Given the description of an element on the screen output the (x, y) to click on. 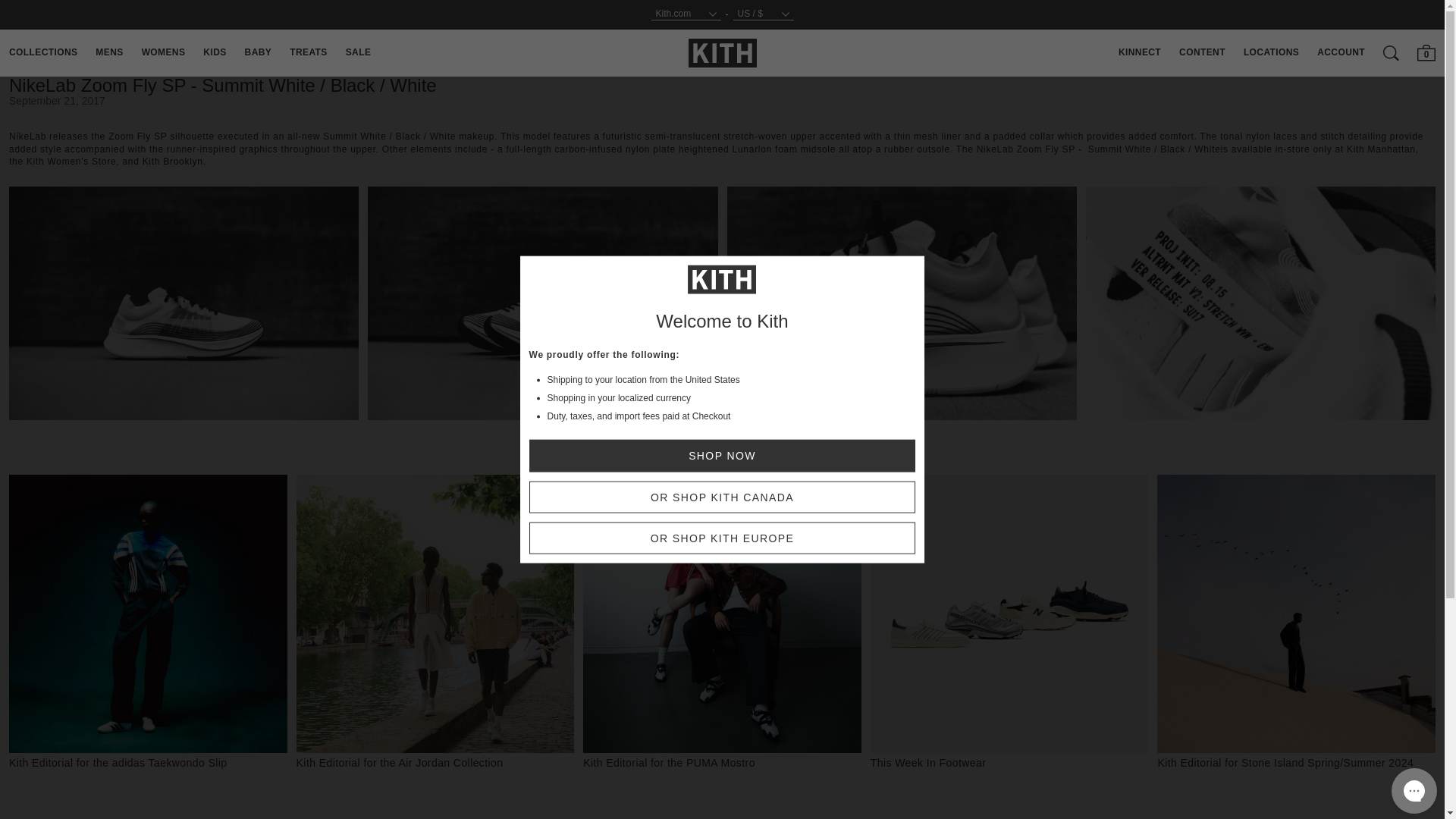
KITH LOGO (722, 52)
Kith (722, 52)
